Given the description of an element on the screen output the (x, y) to click on. 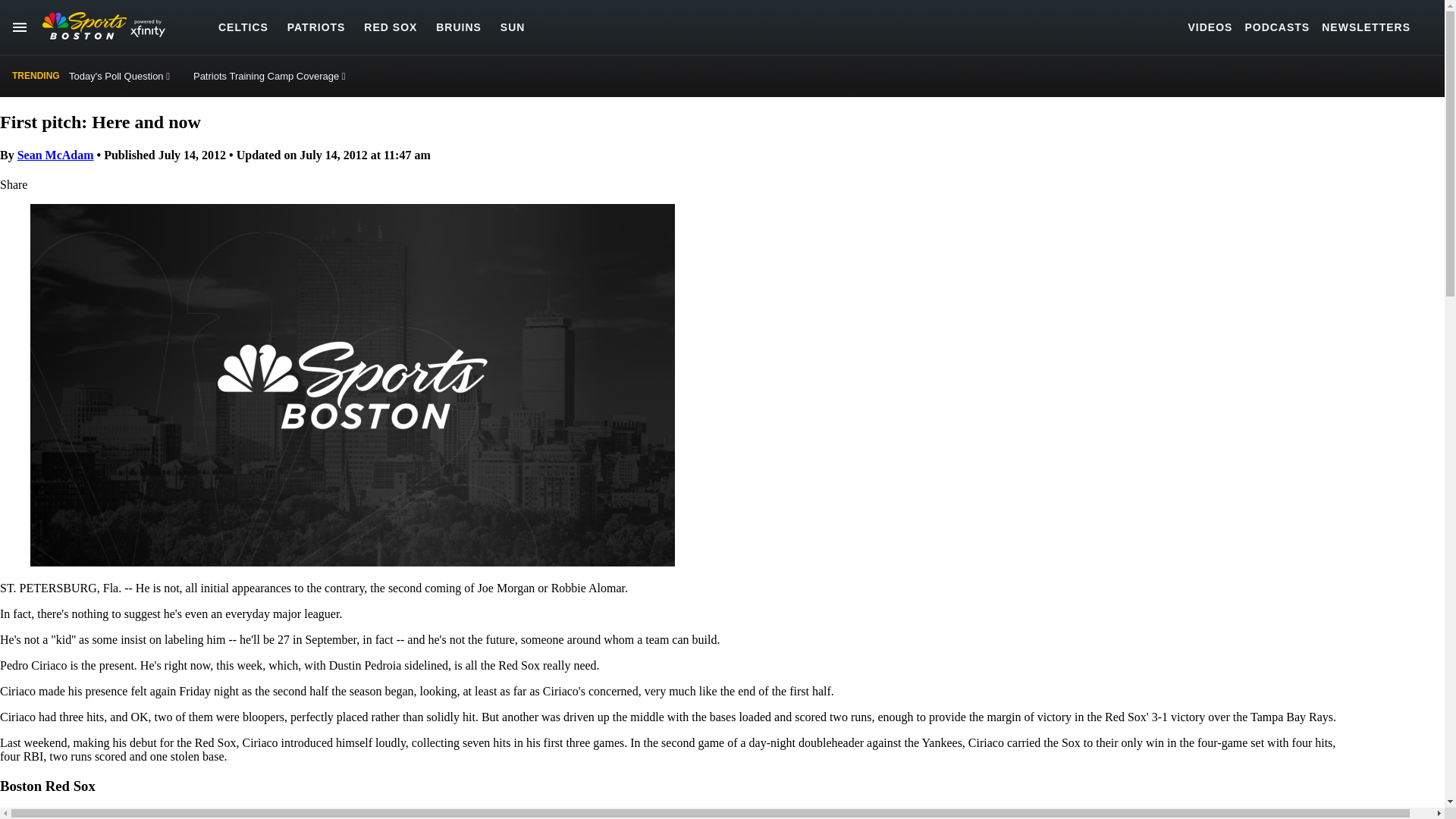
PODCASTS (1276, 27)
BRUINS (458, 27)
CELTICS (242, 27)
RED SOX (390, 27)
NEWSLETTERS (1366, 27)
SUN (512, 27)
PATRIOTS (316, 27)
VIDEOS (1210, 27)
Sean McAdam (55, 154)
